Given the description of an element on the screen output the (x, y) to click on. 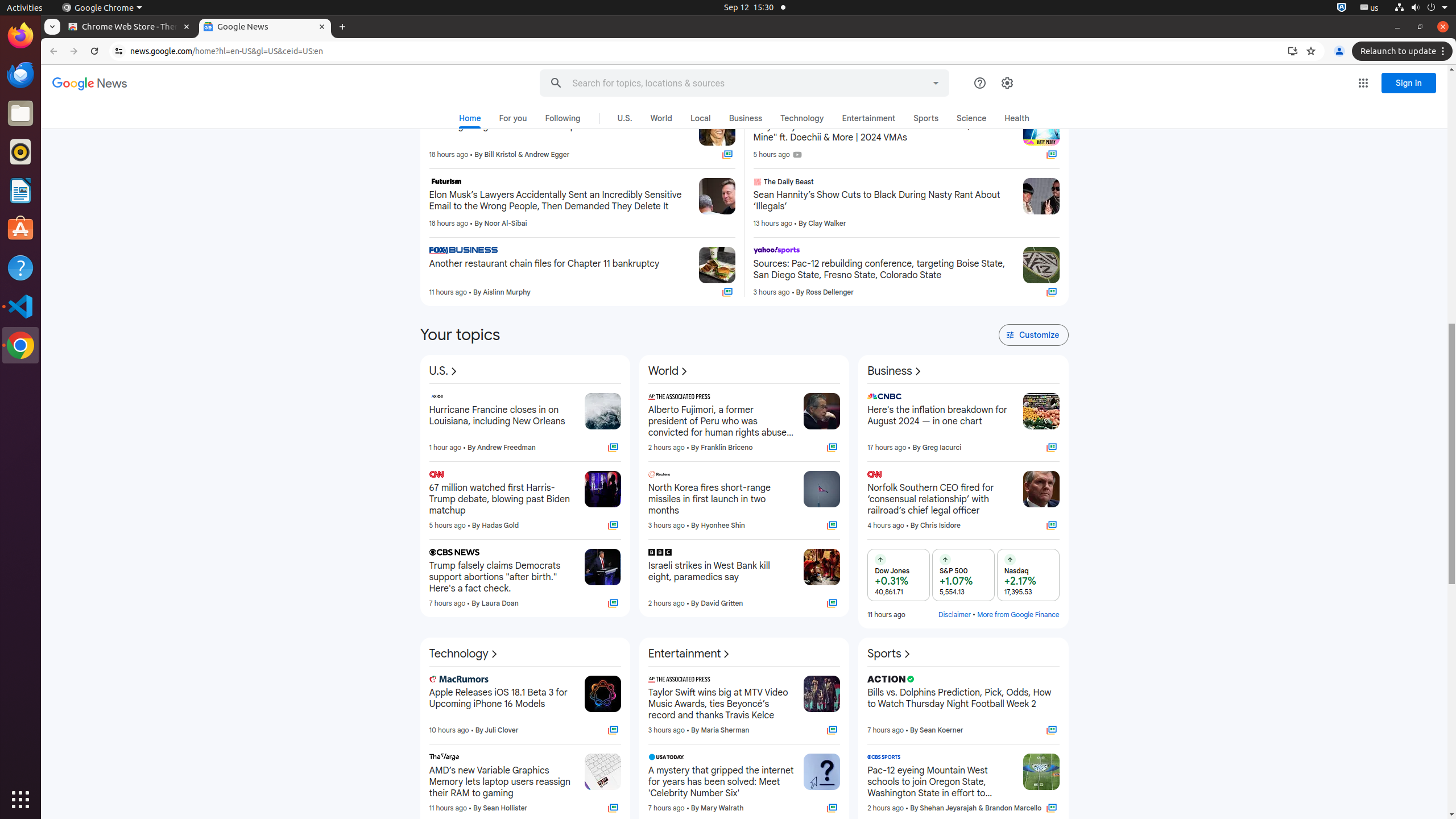
More - Here's the inflation breakdown for August 2024 — in one chart Element type: push-button (1010, 398)
More - Elon Musk’s Lawyers Accidentally Sent an Incredibly Sensitive Email to the Wrong People, Then Demanded They Delete It Element type: push-button (685, 183)
Science Element type: menu-item (971, 118)
U.S. Element type: link (444, 371)
Here's the inflation breakdown for August 2024 — in one chart Element type: link (940, 421)
